Given the description of an element on the screen output the (x, y) to click on. 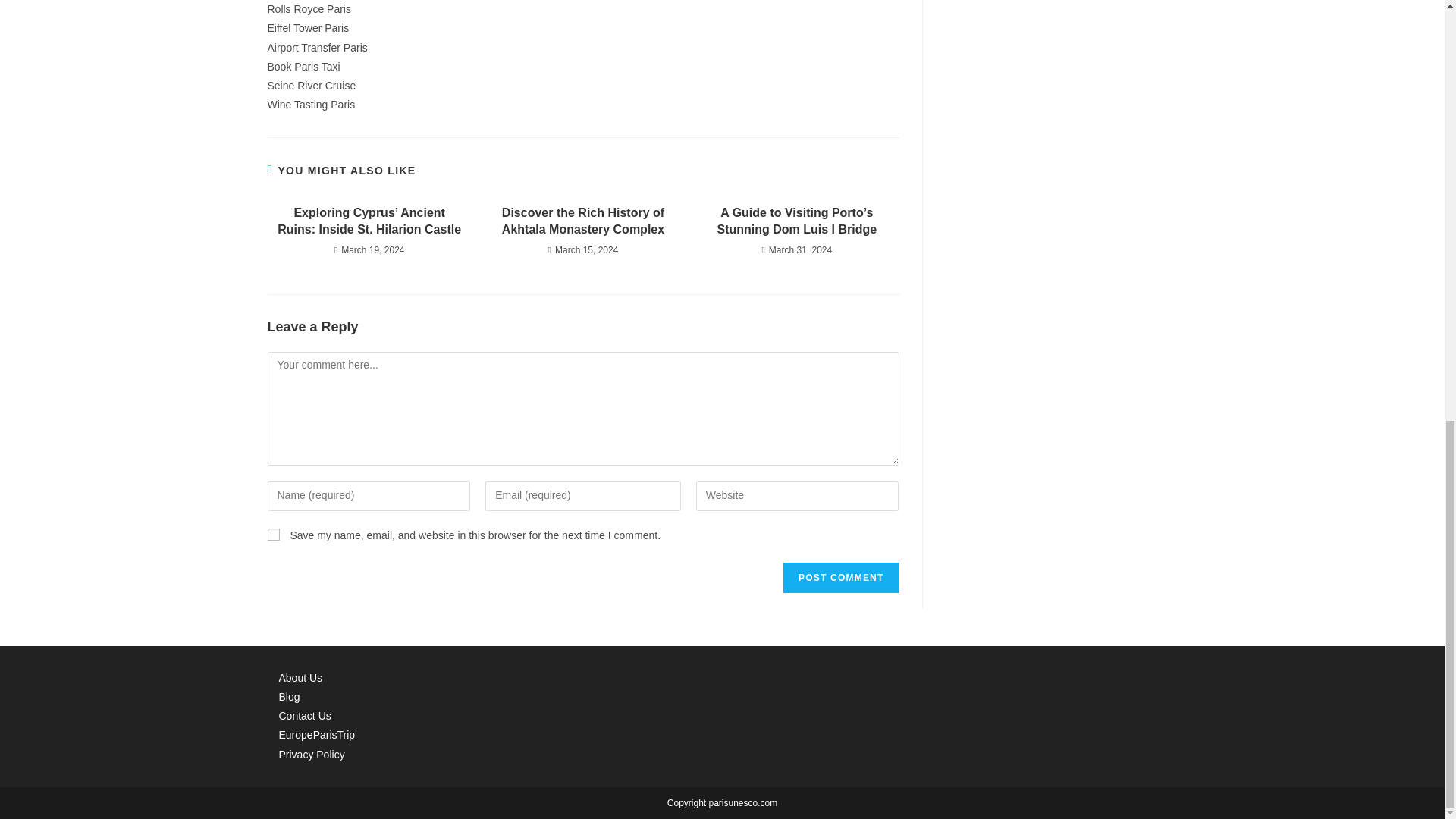
Contact Us (305, 715)
Discover the Rich History of Akhtala Monastery Complex (582, 221)
Privacy Policy (312, 754)
yes (272, 534)
Post Comment (840, 577)
Post Comment (840, 577)
About Us (301, 677)
EuropeParisTrip (317, 734)
Blog (289, 696)
